Given the description of an element on the screen output the (x, y) to click on. 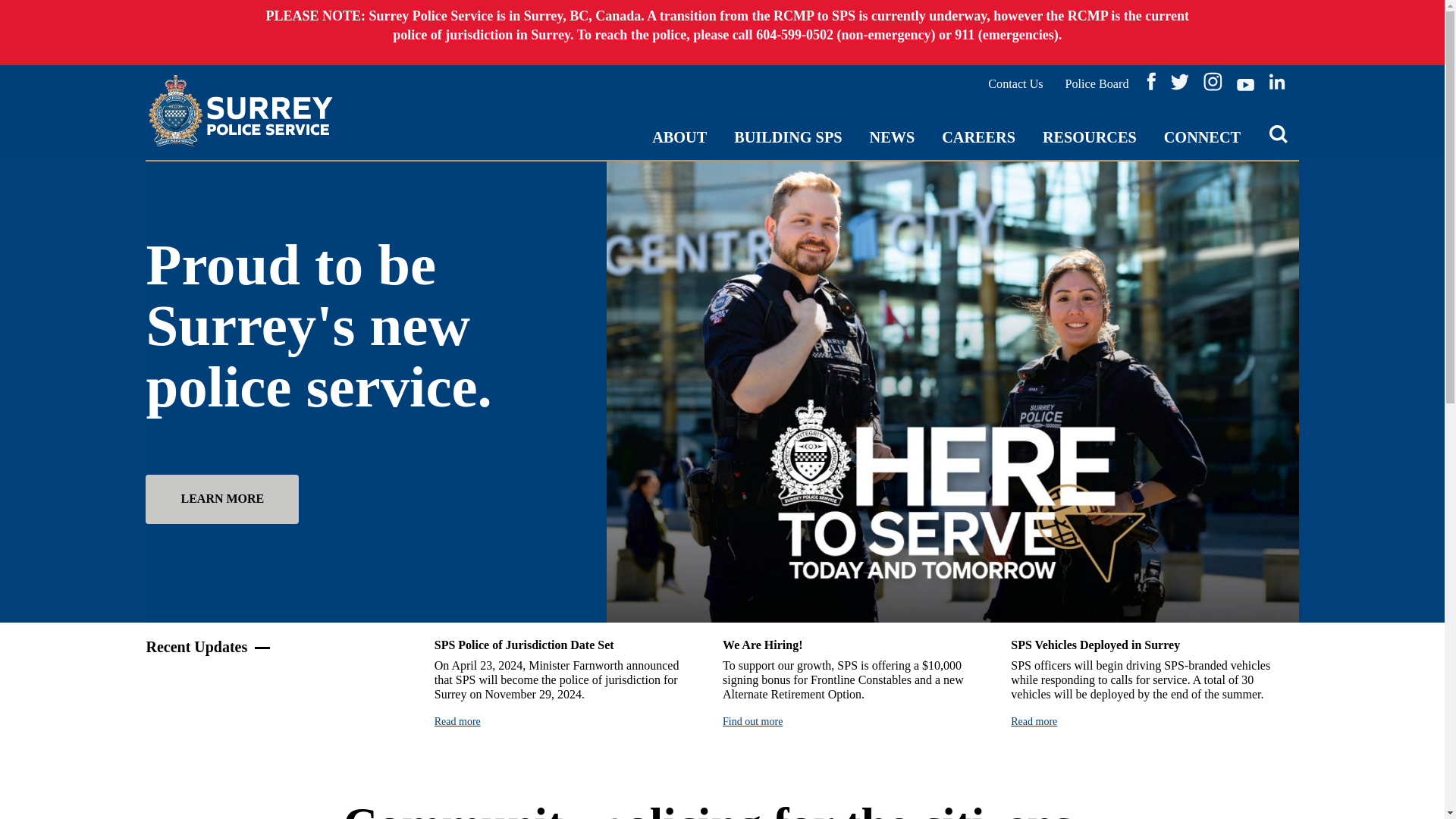
CAREERS (978, 138)
YouTube (1245, 85)
Contact Us (1015, 84)
Police Board (1096, 84)
Careers (978, 138)
CONNECT (1201, 138)
BUILDING SPS (787, 138)
RESOURCES (1089, 138)
ABOUT (679, 138)
NEWS (892, 138)
